Given the description of an element on the screen output the (x, y) to click on. 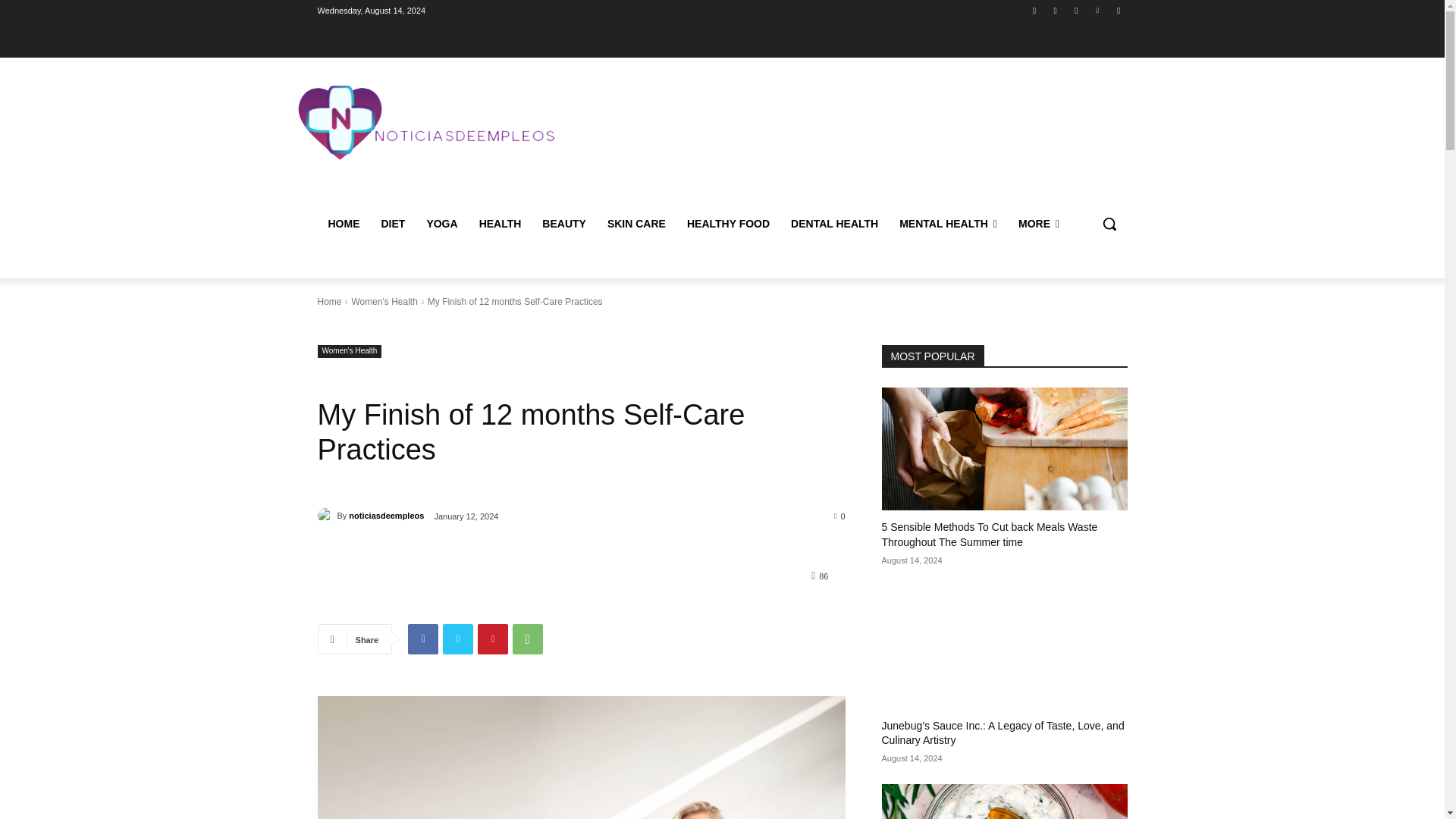
Vimeo (1097, 9)
YOGA (440, 223)
Twitter (1075, 9)
HOME (343, 223)
DIET (391, 223)
Youtube (1117, 9)
Facebook (1034, 9)
HEALTH (500, 223)
Instagram (1055, 9)
